Given the description of an element on the screen output the (x, y) to click on. 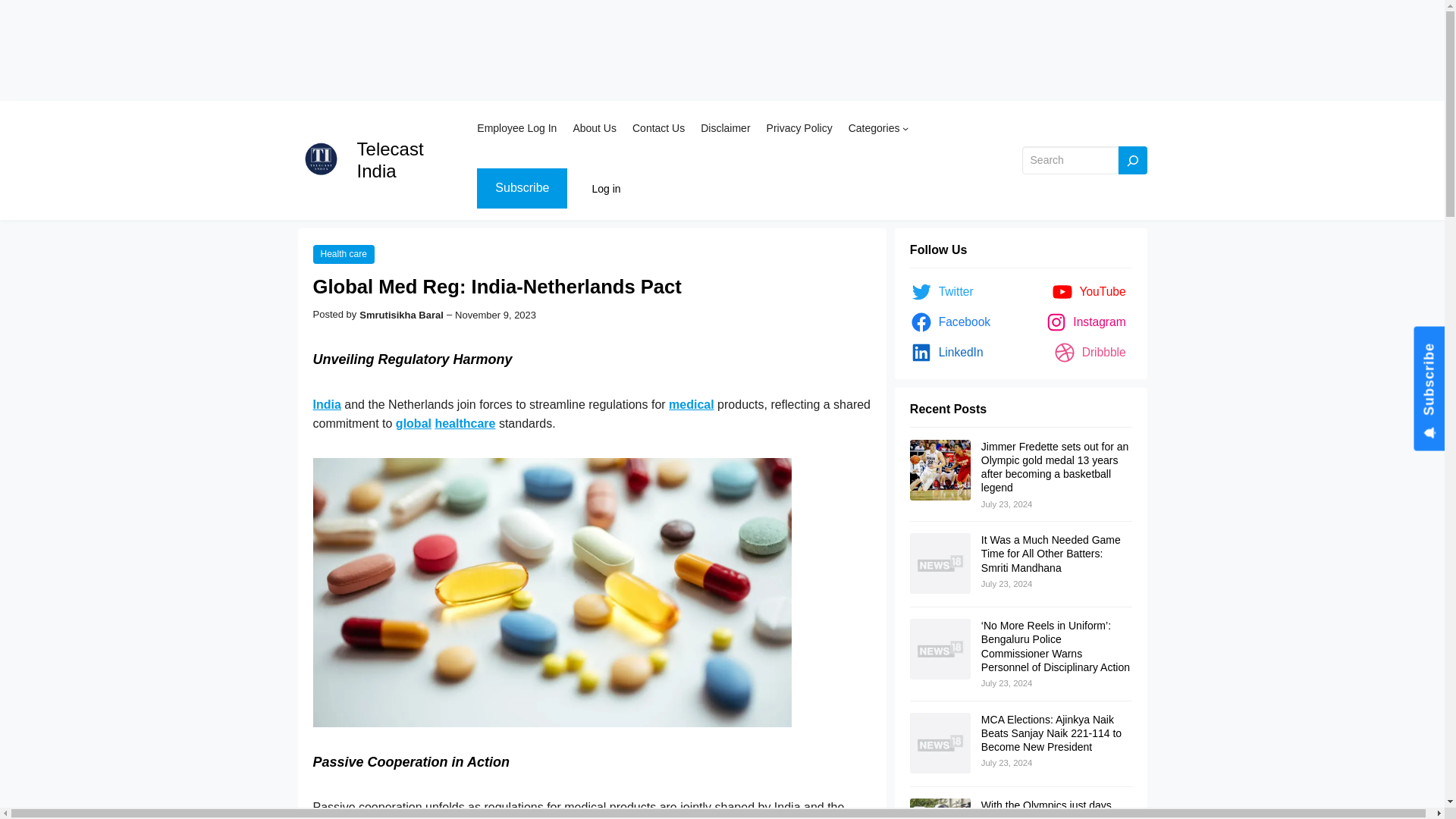
Instagram (1088, 322)
India (326, 404)
About Us (593, 128)
YouTube (1091, 291)
Dribbble (1092, 352)
Advertisement (455, 50)
Subscribe (522, 188)
Telecast India (389, 159)
Global Fight for Affordable TB Meds (413, 422)
Global Med Reg: India-Netherlands Pact 1 (551, 592)
healthcare (464, 422)
